Given the description of an element on the screen output the (x, y) to click on. 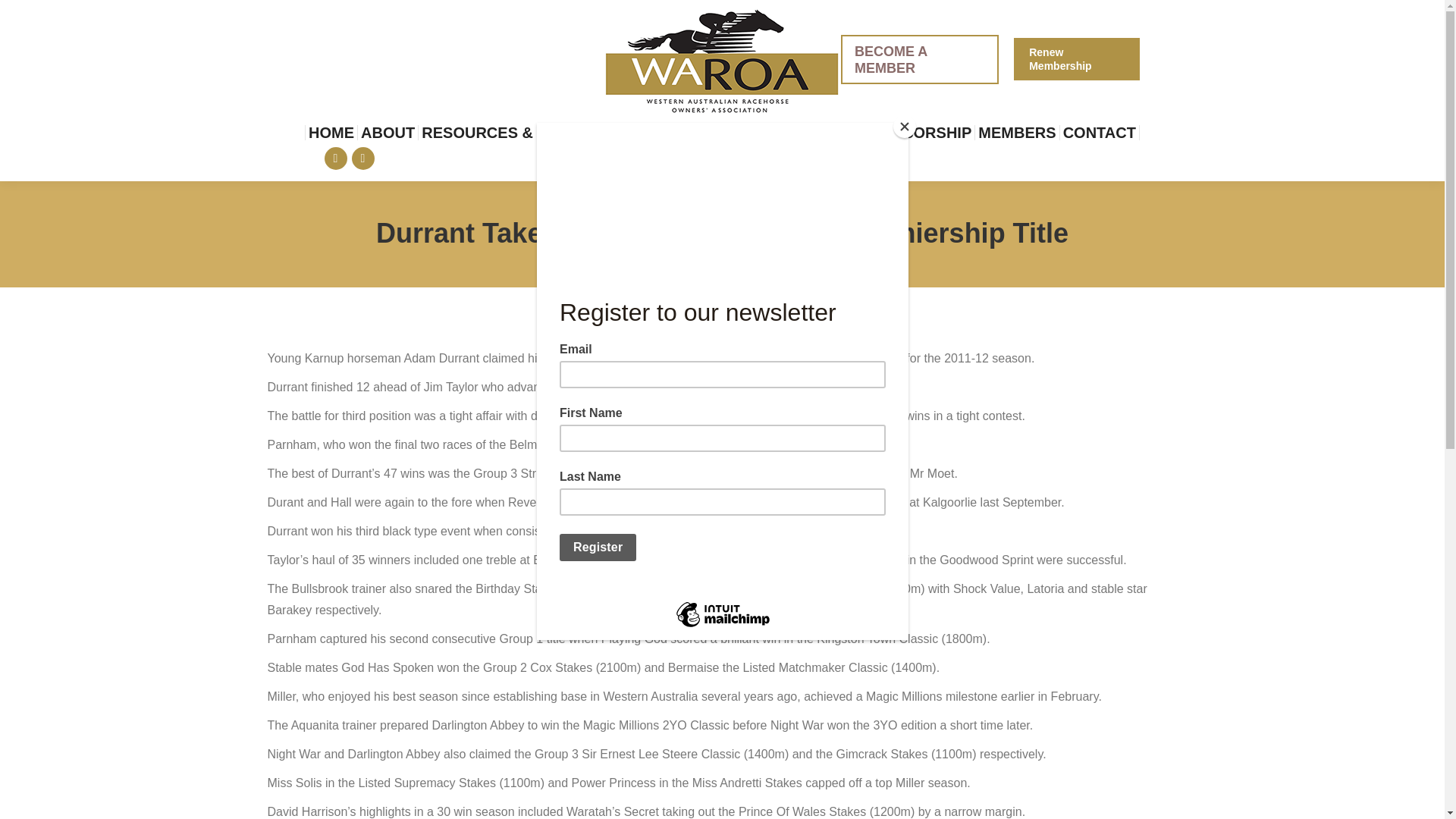
BECOME A MEMBER (919, 59)
Twitter page opens in new window (363, 158)
ABOUT (387, 132)
BUSINESS DIRECTORY (768, 132)
CONTACT (1099, 132)
Facebook page opens in new window (335, 158)
HOME (330, 132)
Facebook page opens in new window (335, 158)
MEMBERS (1017, 132)
Renew Membership (1075, 58)
SPONSORSHIP (916, 132)
Twitter page opens in new window (363, 158)
